Given the description of an element on the screen output the (x, y) to click on. 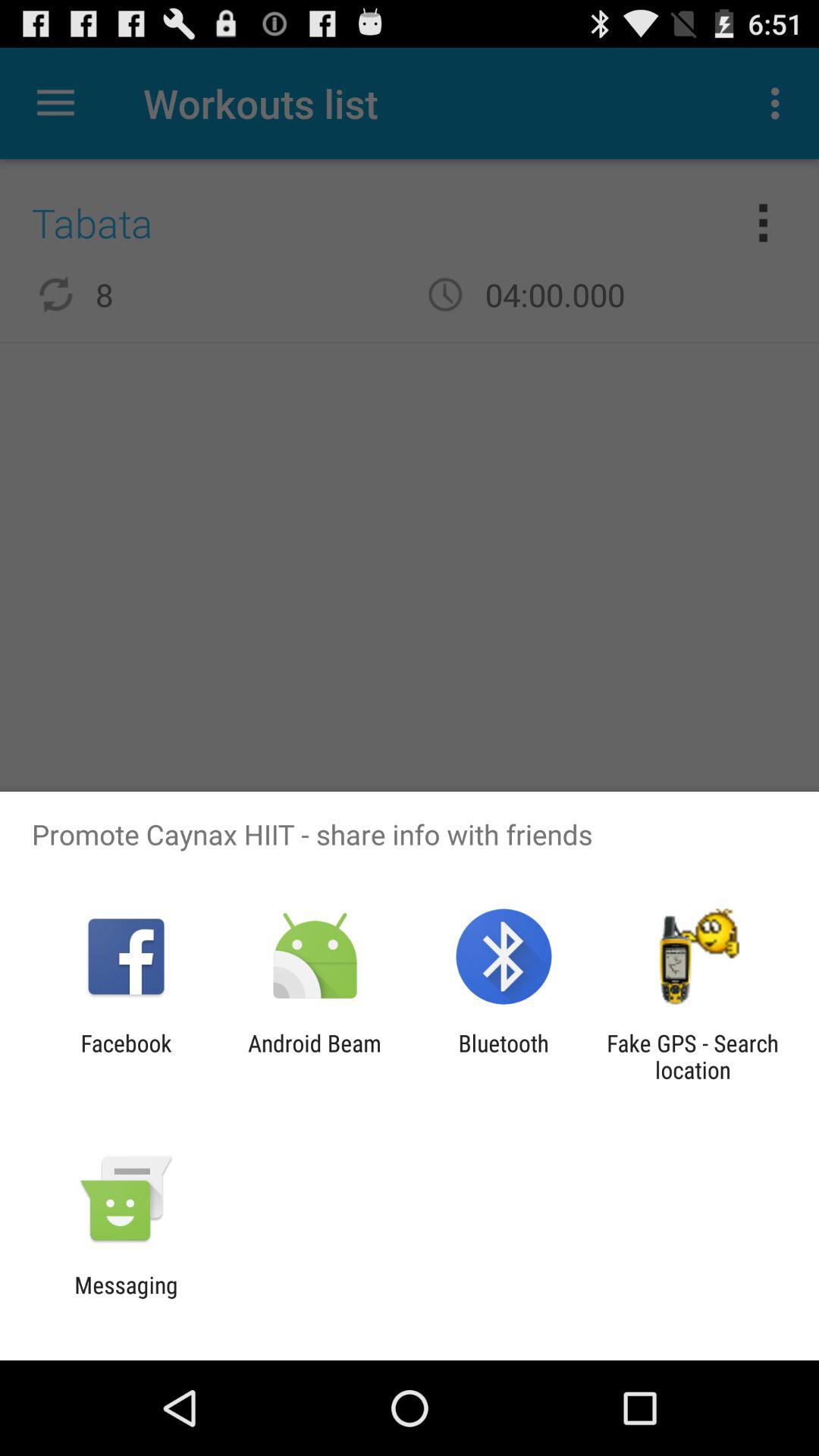
open app next to facebook icon (314, 1056)
